Given the description of an element on the screen output the (x, y) to click on. 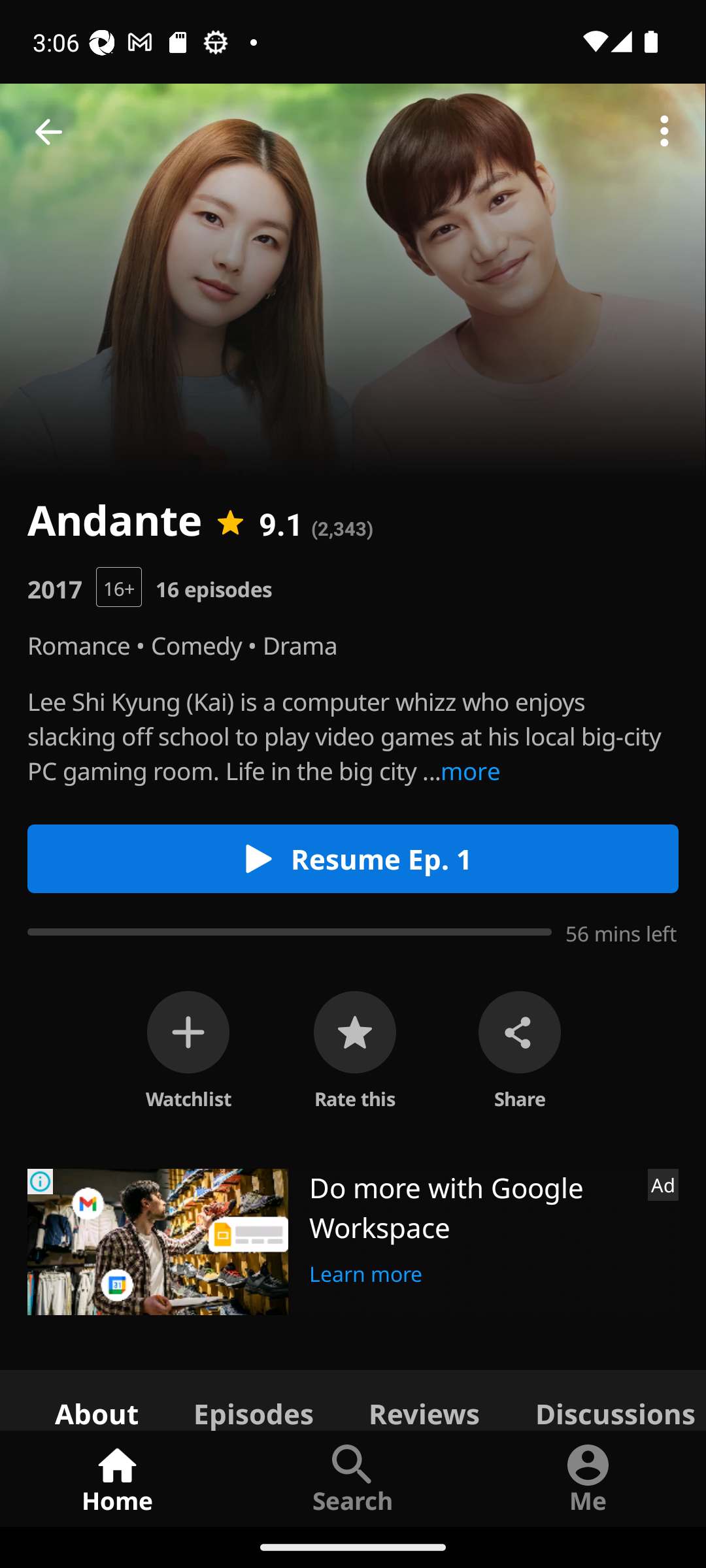
More (664, 131)
off (187, 1032)
Ad Choices Icon (39, 1181)
Do more with Google Workspace (471, 1207)
Learn more (365, 1271)
Episodes (252, 1400)
Reviews (423, 1400)
Discussions (606, 1400)
Search (352, 1478)
Me (588, 1478)
